Given the description of an element on the screen output the (x, y) to click on. 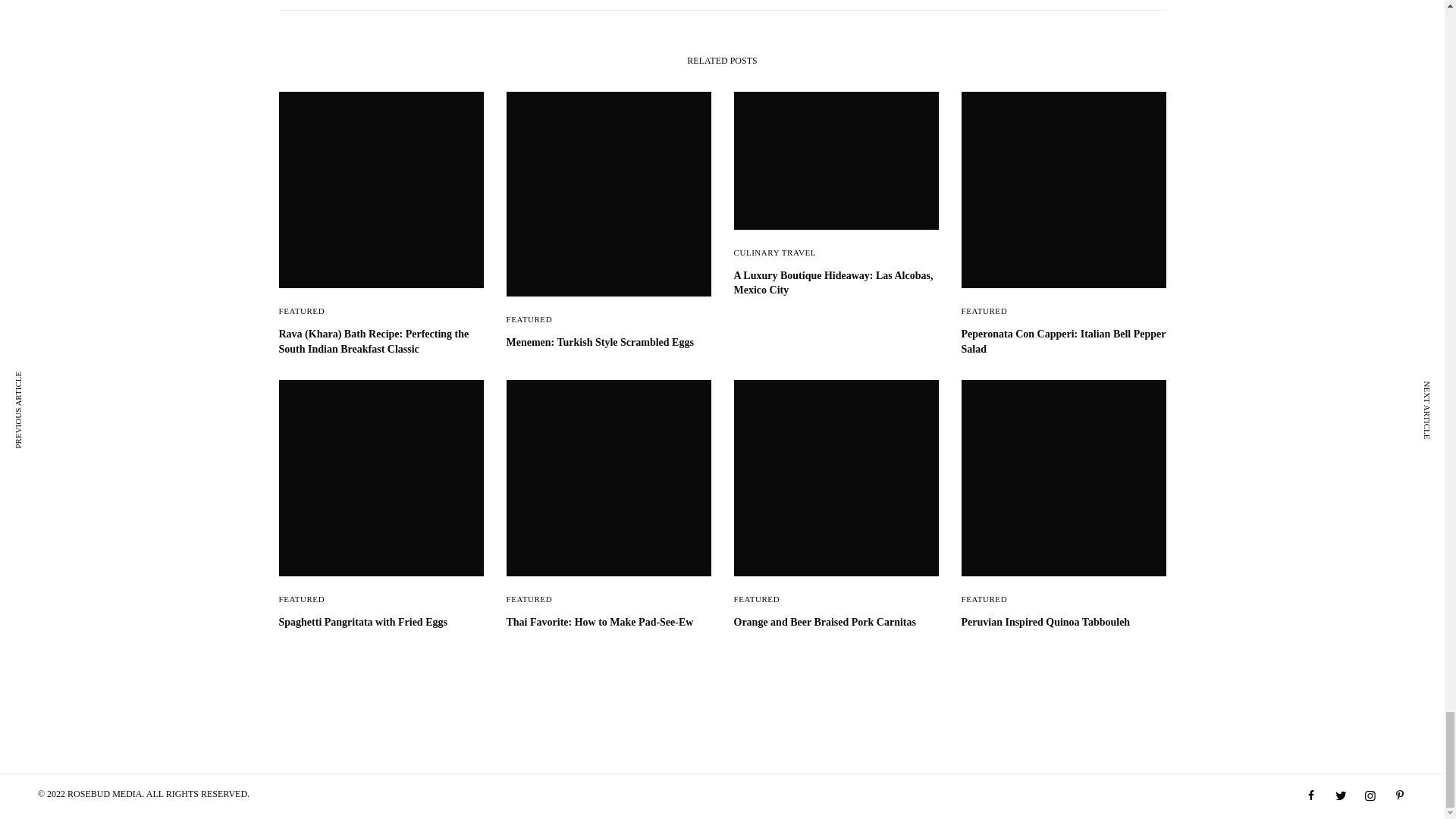
Menemen: Turkish Style Scrambled Eggs (608, 342)
Spaghetti Pangritata with Fried Eggs (381, 622)
Peruvian Inspired Quinoa Tabbouleh (1063, 622)
Orange and Beer Braised Pork Carnitas (836, 622)
Thai Favorite: How to Make Pad-See-Ew (608, 622)
Peperonata Con Capperi: Italian Bell Pepper Salad (1063, 341)
A Luxury Boutique Hideaway: Las Alcobas, Mexico City (836, 283)
